Given the description of an element on the screen output the (x, y) to click on. 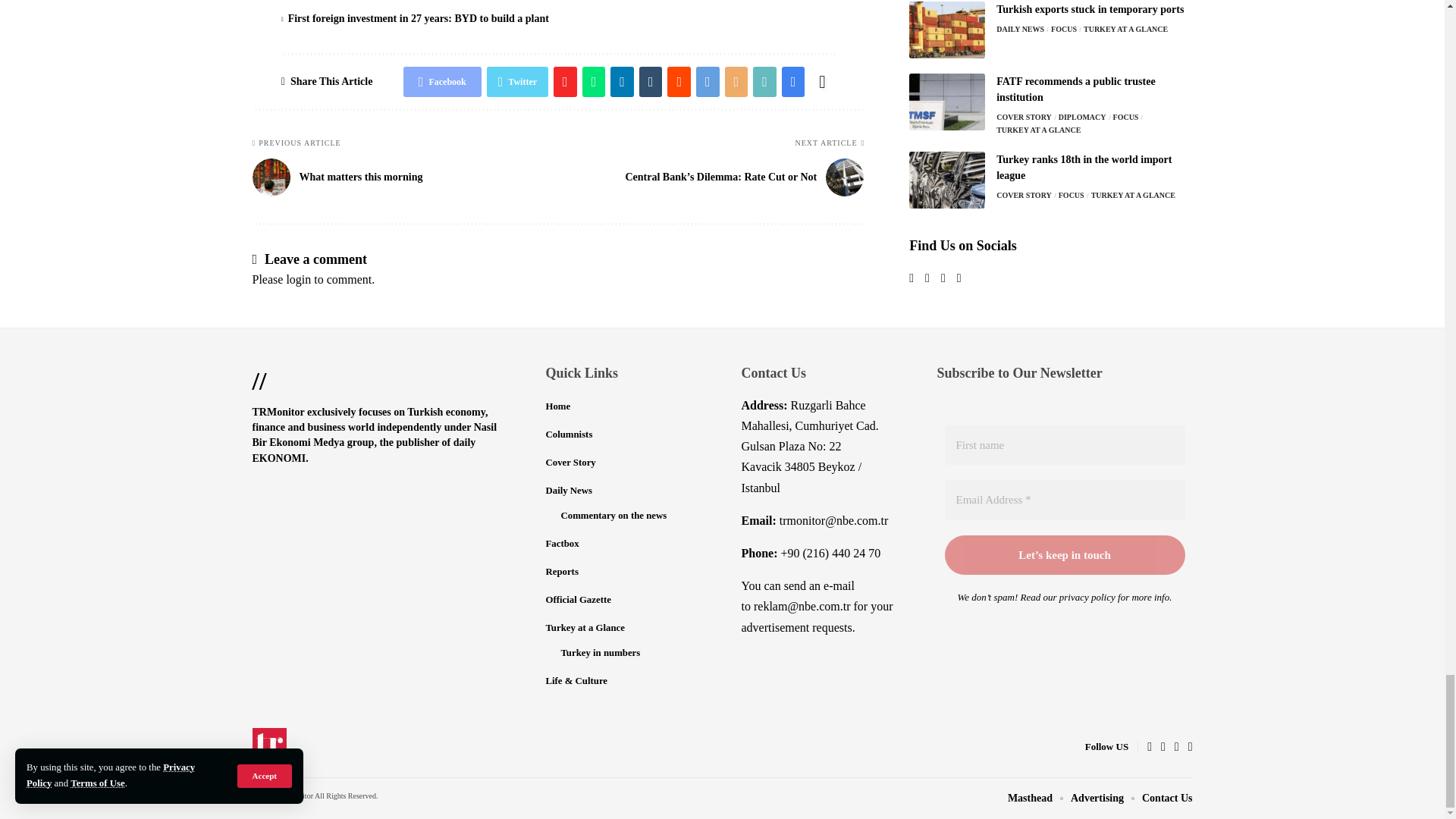
Email Address (1064, 499)
First name (1064, 445)
TR MONITOR (268, 746)
